Given the description of an element on the screen output the (x, y) to click on. 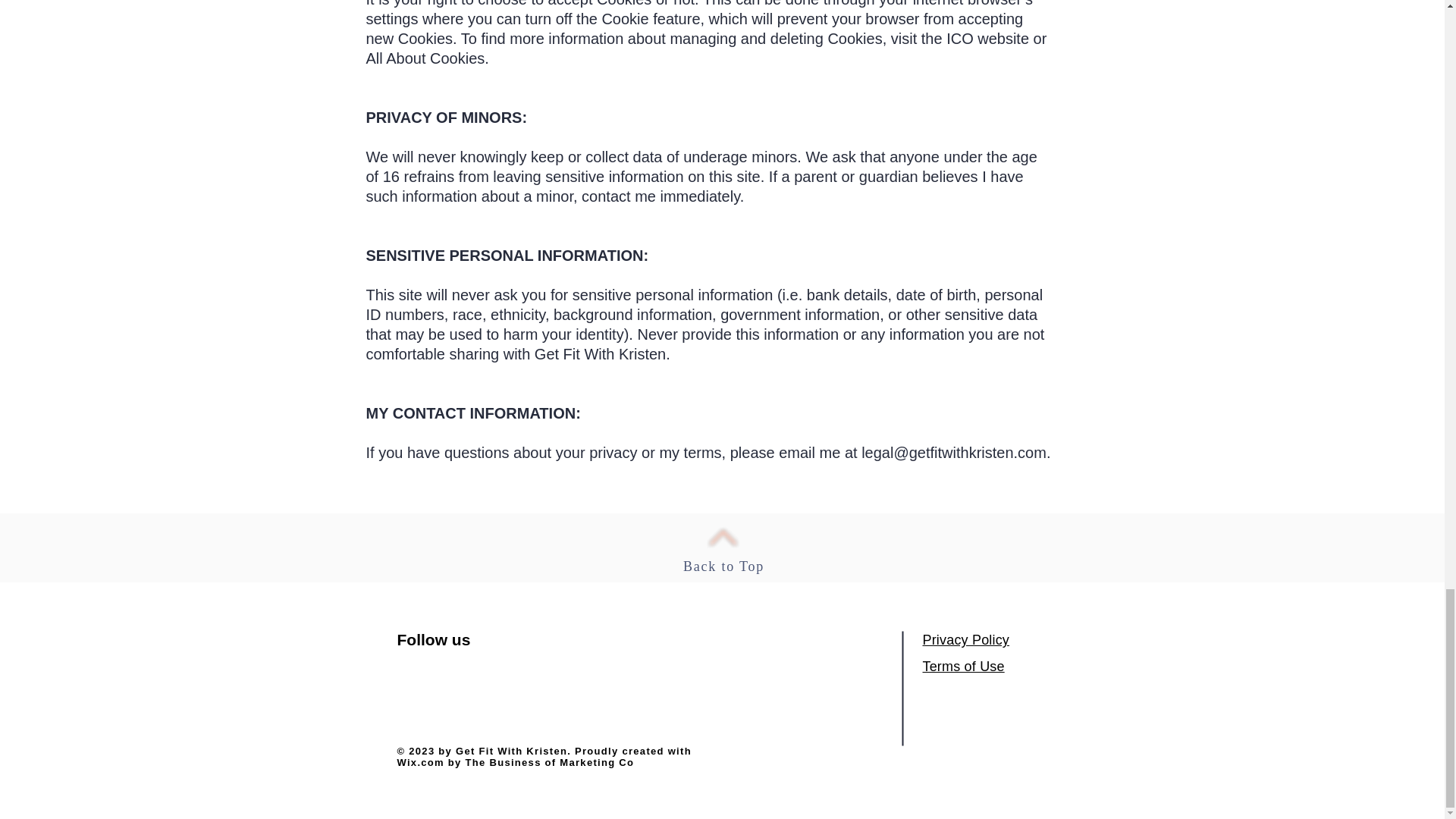
Back to Top (723, 566)
Privacy Policy (965, 639)
Wix.com by The Business of Marketing Co (515, 762)
Terms of Use (962, 666)
